Given the description of an element on the screen output the (x, y) to click on. 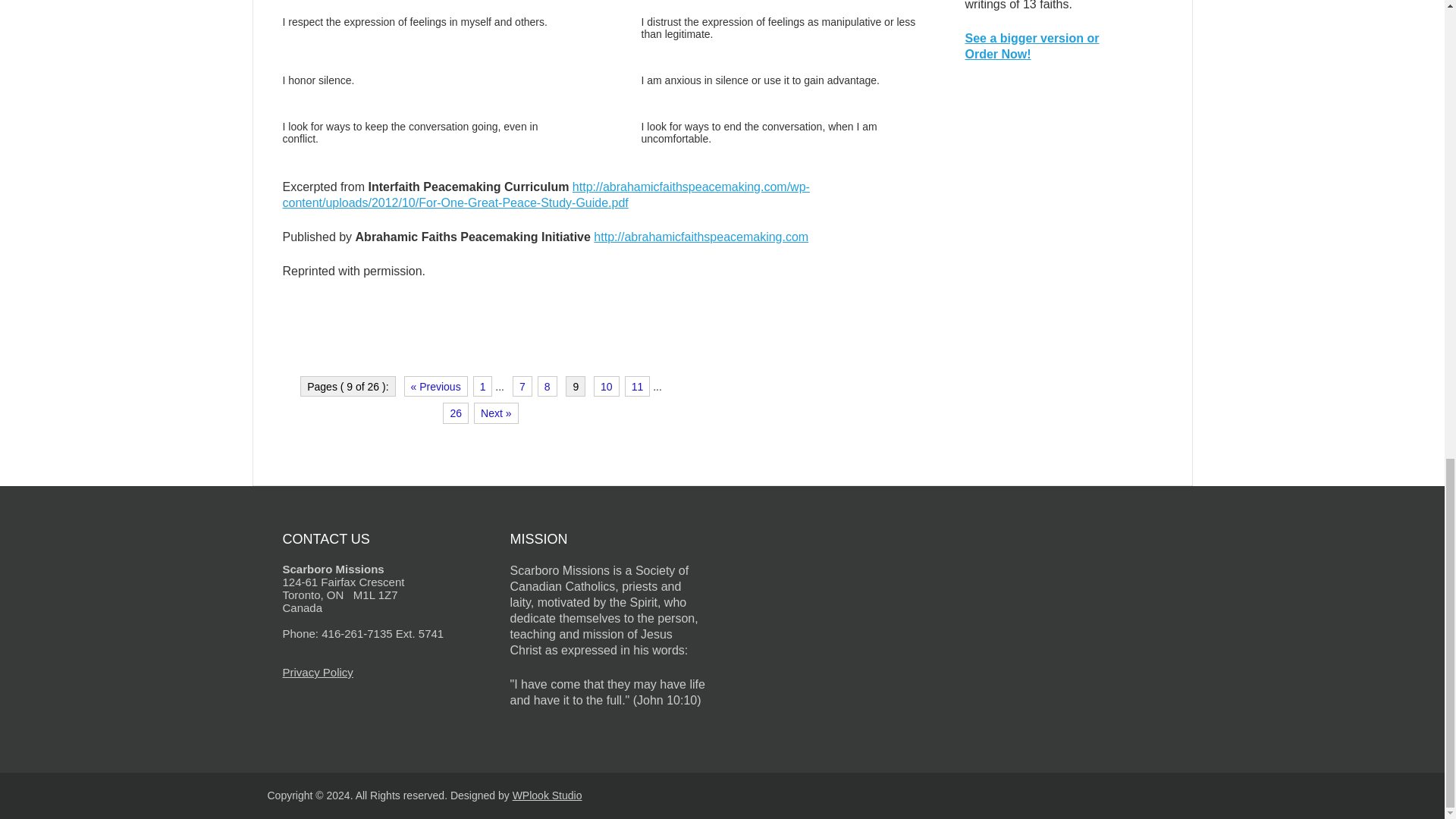
WPlook (547, 795)
